Given the description of an element on the screen output the (x, y) to click on. 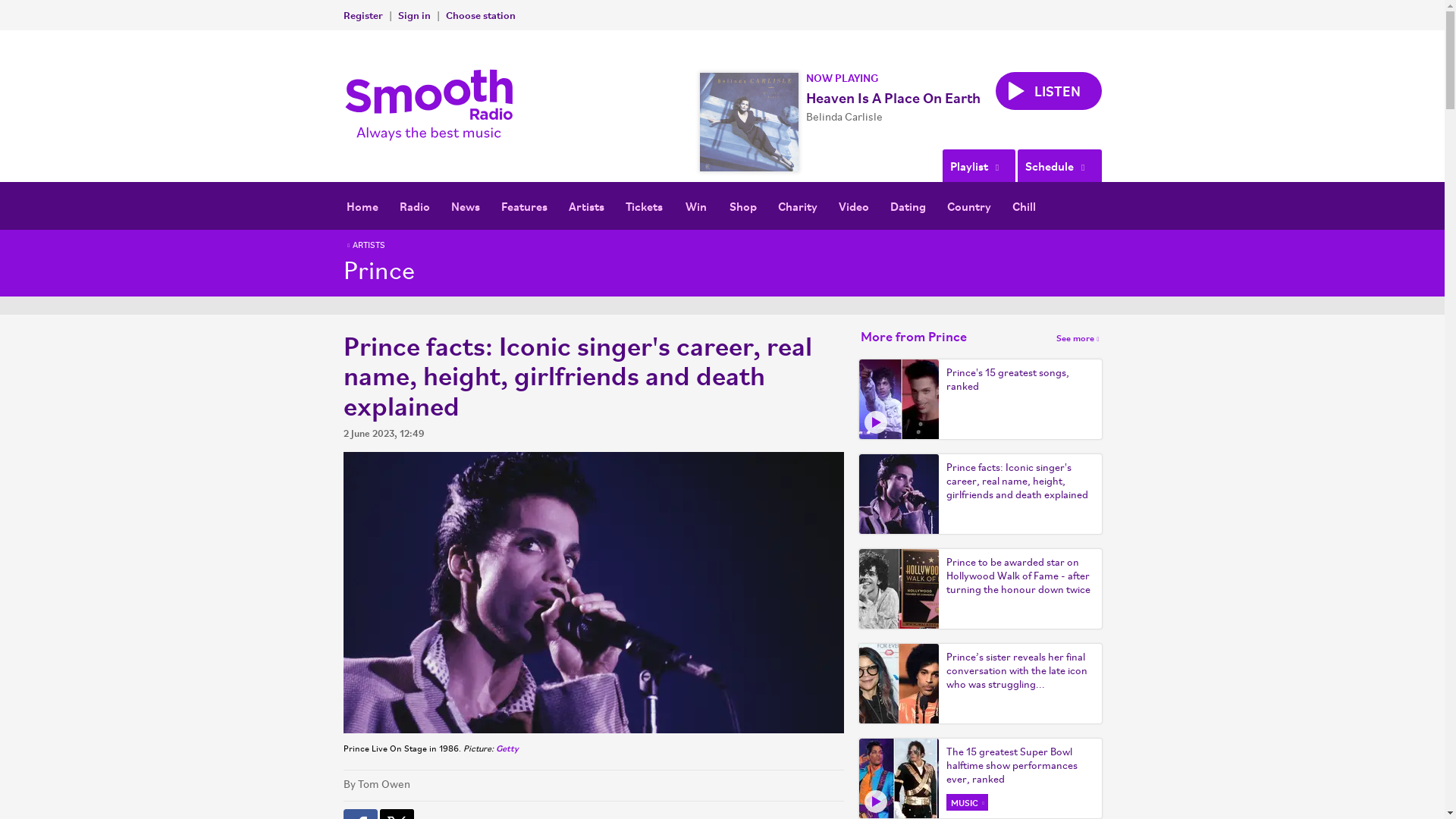
Video (853, 205)
Register (361, 14)
Smooth (432, 105)
Country (968, 205)
Features (523, 205)
ARTISTS (363, 245)
Radio (413, 205)
News (464, 205)
Tickets (643, 205)
Shop (743, 205)
Dating (907, 205)
Artists (585, 205)
Getty (507, 747)
Sign in (413, 14)
Playlist (978, 165)
